Given the description of an element on the screen output the (x, y) to click on. 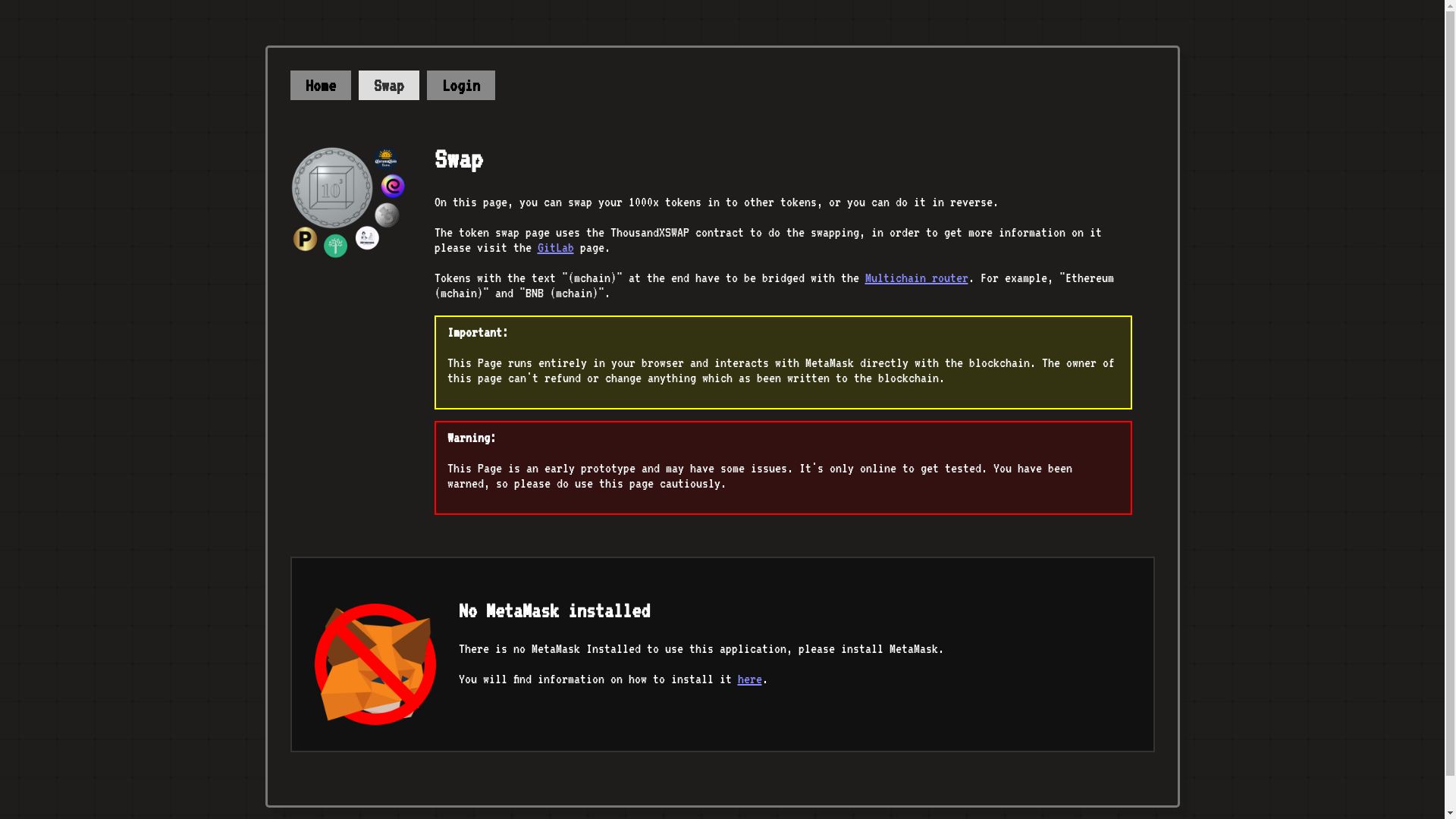
Home Element type: text (319, 85)
Swap Element type: text (387, 85)
Login Element type: text (460, 85)
here Element type: text (749, 678)
Multichain router Element type: text (915, 277)
GitLab Element type: text (554, 246)
